Given the description of an element on the screen output the (x, y) to click on. 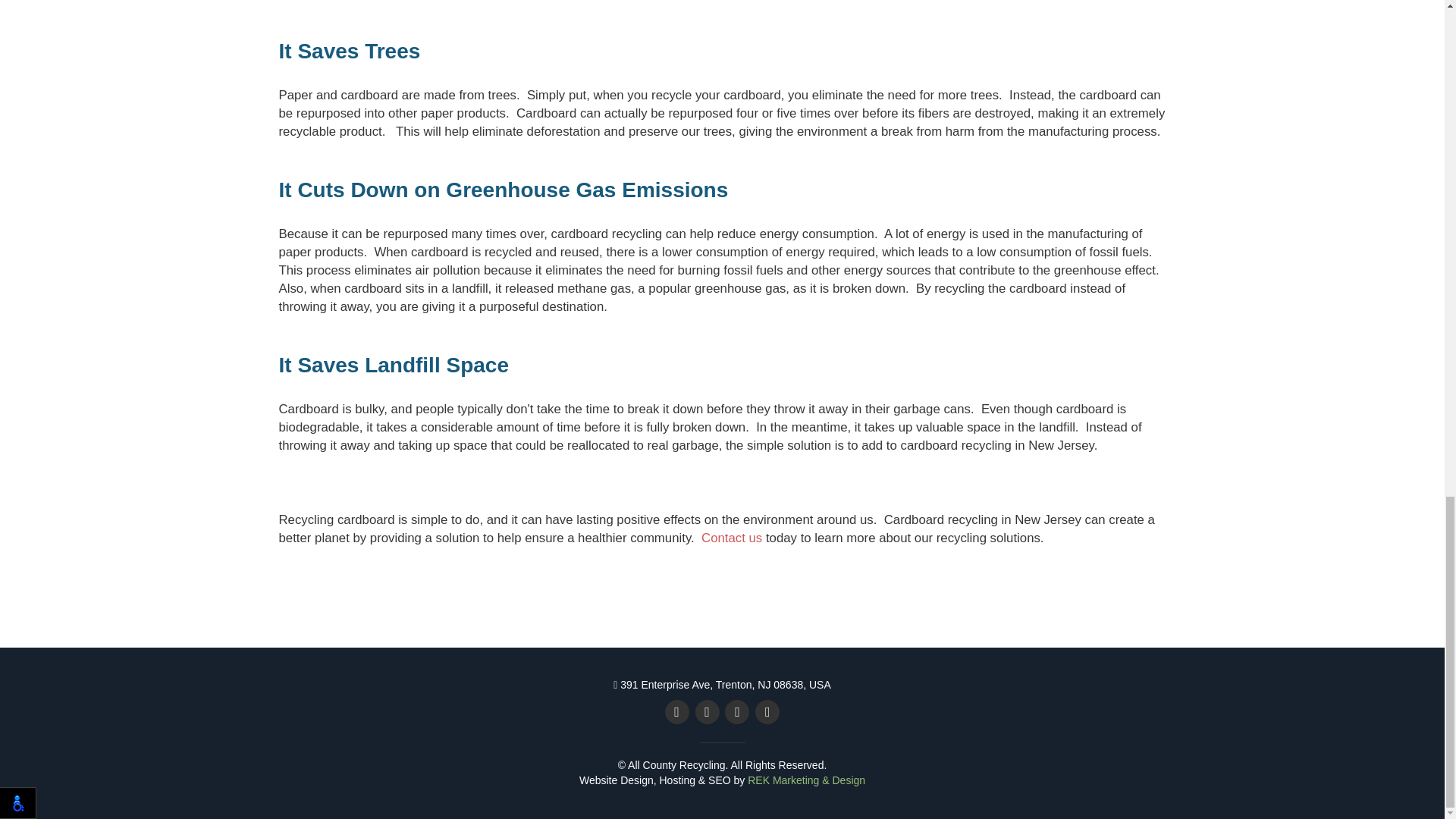
Contact us (731, 536)
